Given the description of an element on the screen output the (x, y) to click on. 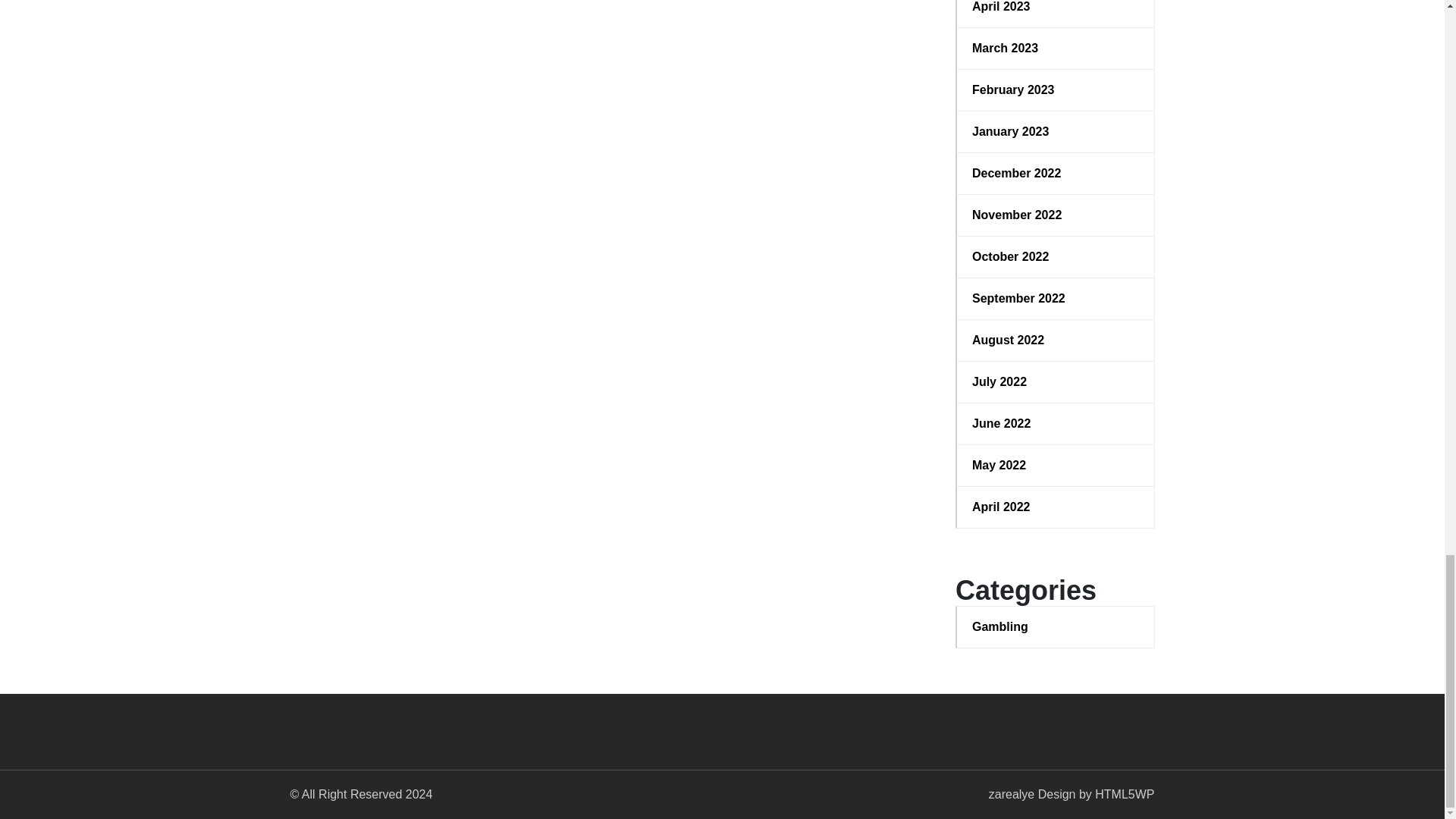
February 2023 (1055, 90)
October 2022 (1055, 257)
April 2023 (1055, 7)
December 2022 (1055, 173)
January 2023 (1055, 131)
March 2023 (1055, 48)
November 2022 (1055, 215)
